Given the description of an element on the screen output the (x, y) to click on. 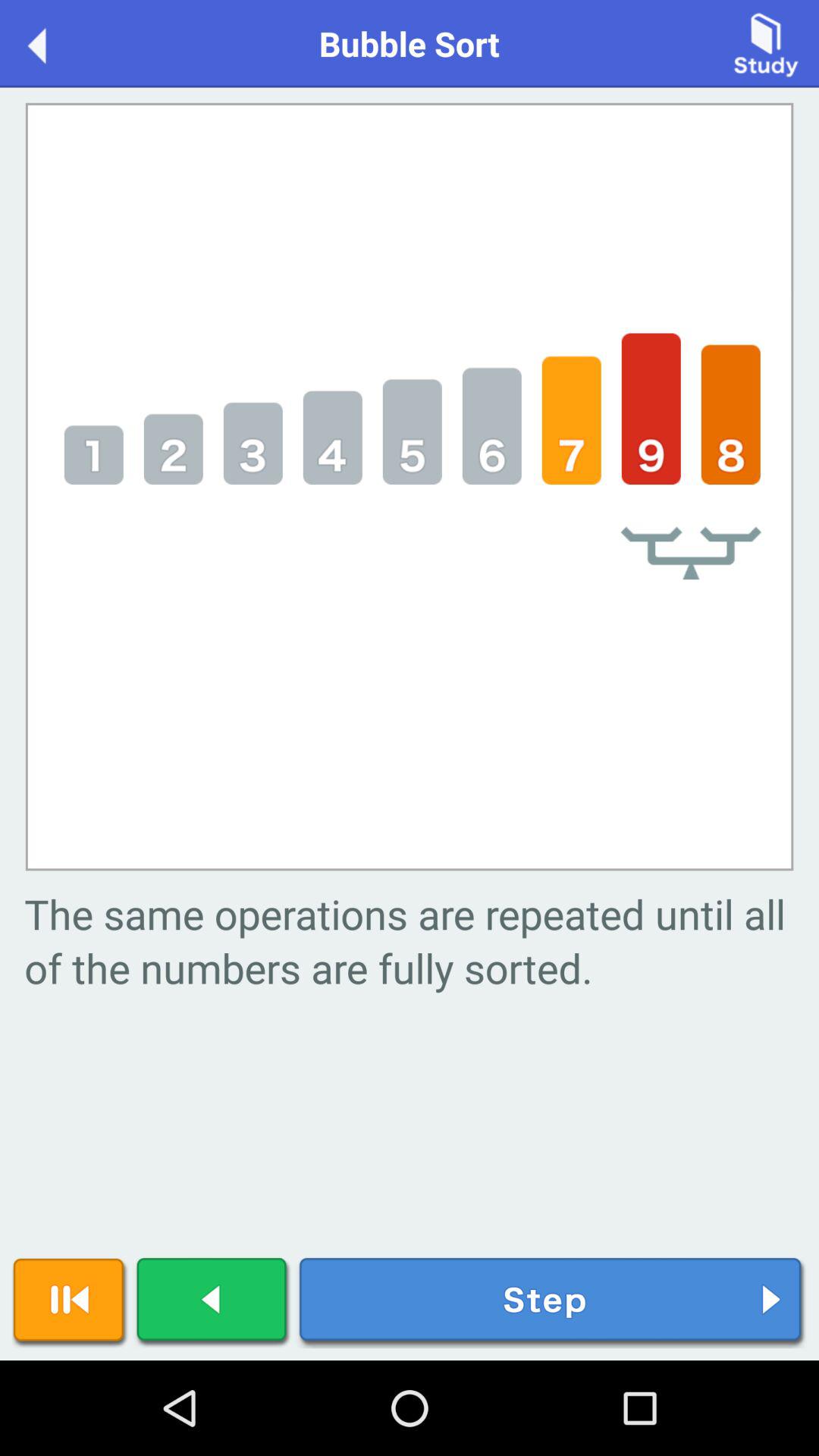
click item next to the bubble sort item (766, 42)
